Given the description of an element on the screen output the (x, y) to click on. 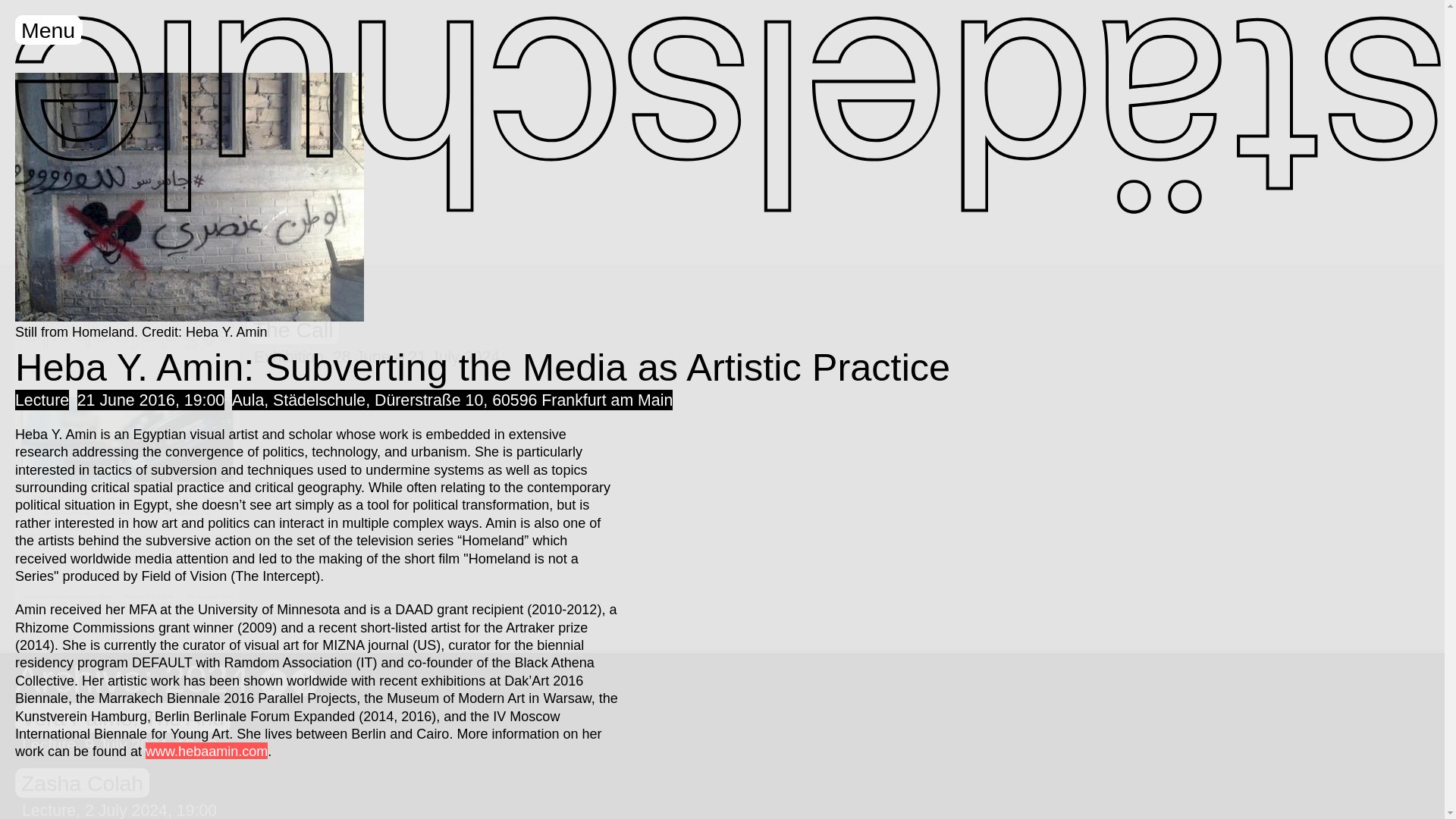
Menu (47, 30)
Previous (304, 682)
Vera Palme: The And (122, 717)
www.hebaamin.com (206, 750)
Next (273, 682)
The Call (293, 328)
Close (48, 30)
Zasha Colah (81, 782)
